Given the description of an element on the screen output the (x, y) to click on. 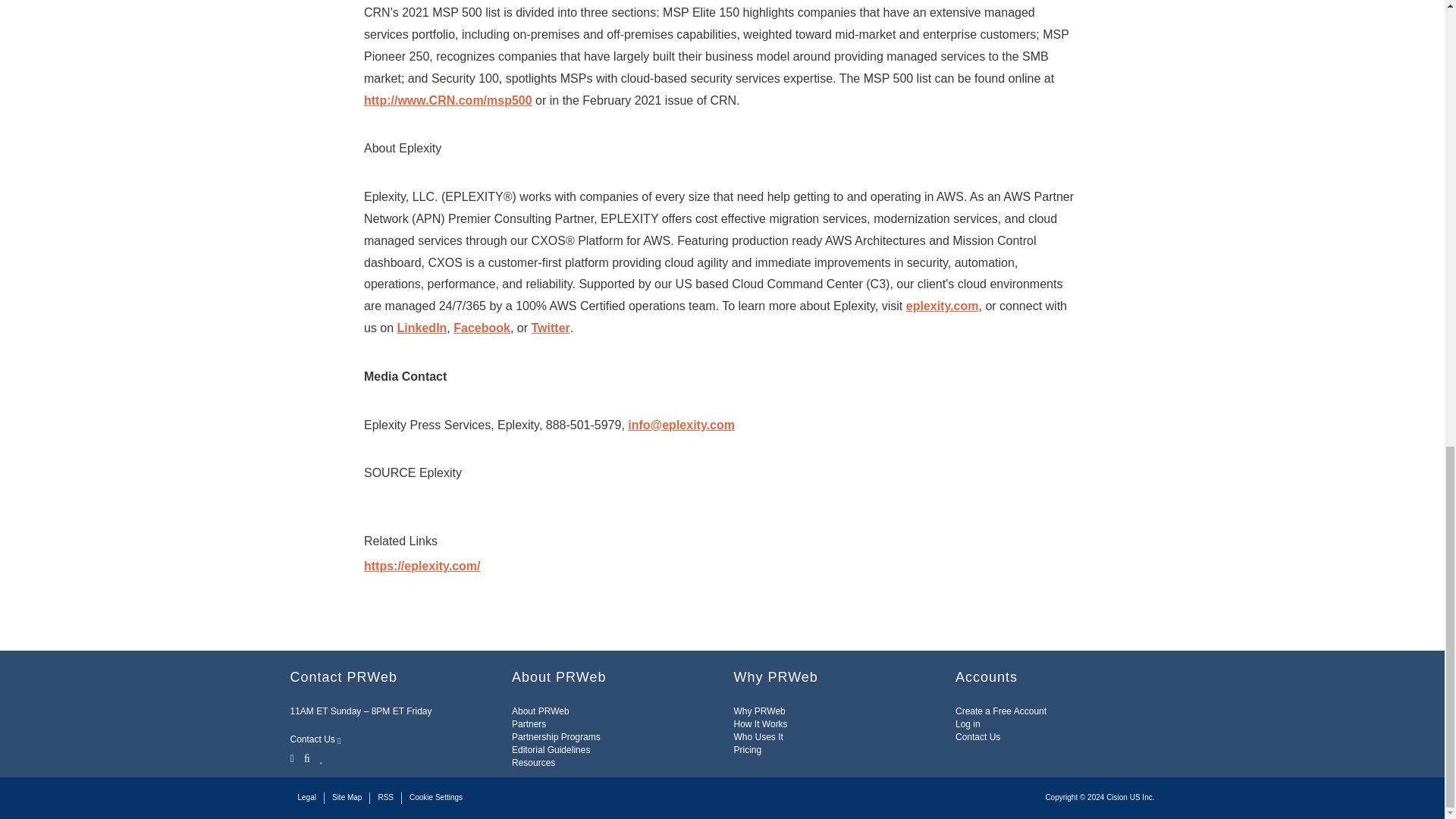
Resources (533, 762)
Partnership Programs (555, 737)
About PRWeb (540, 710)
Partners (529, 724)
Why PRWeb (759, 710)
Editorial Guidelines (550, 749)
Facebook (306, 757)
